Given the description of an element on the screen output the (x, y) to click on. 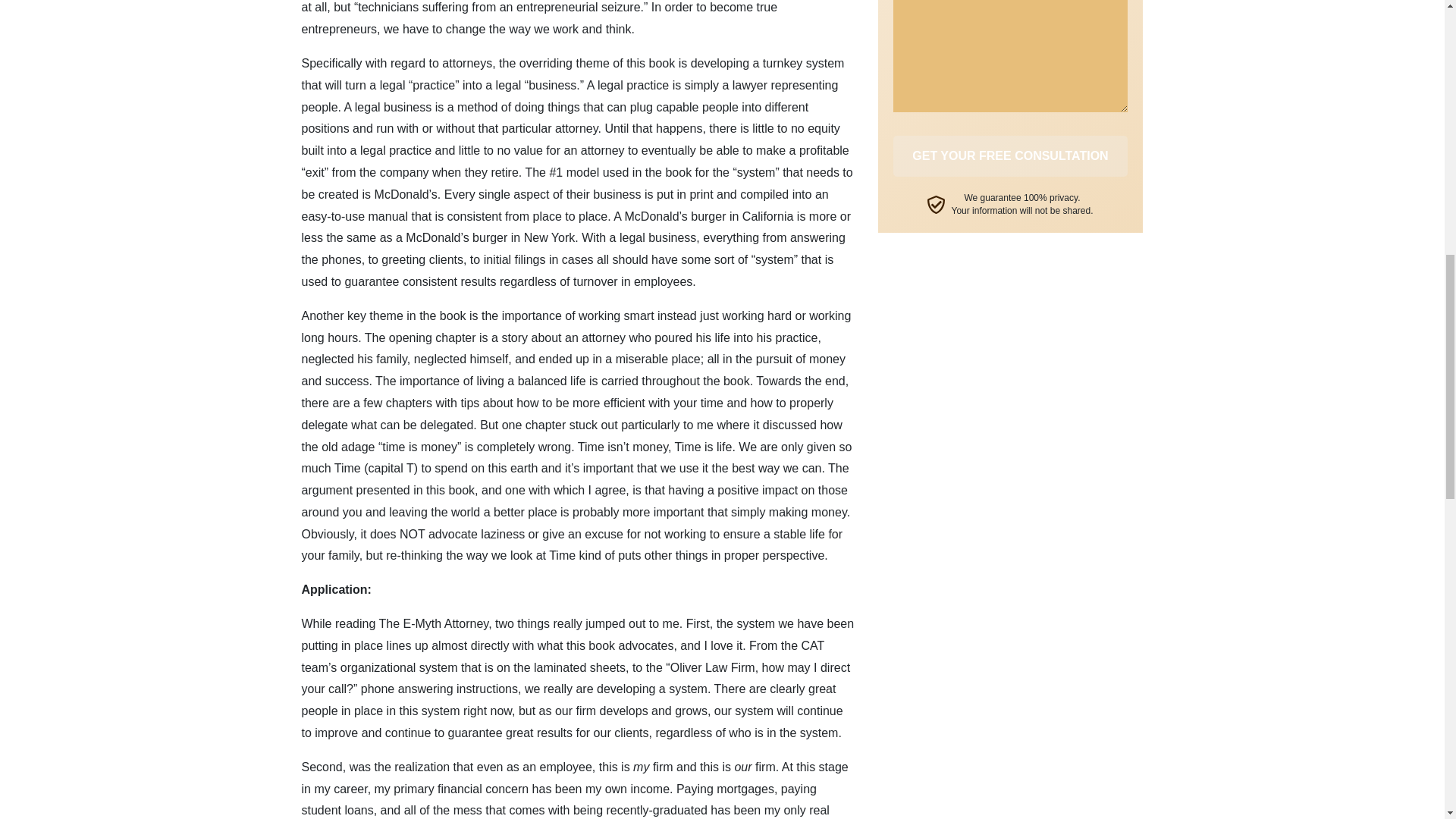
Get Your Free Consultation (1010, 155)
Get Your Free Consultation (1010, 155)
